Given the description of an element on the screen output the (x, y) to click on. 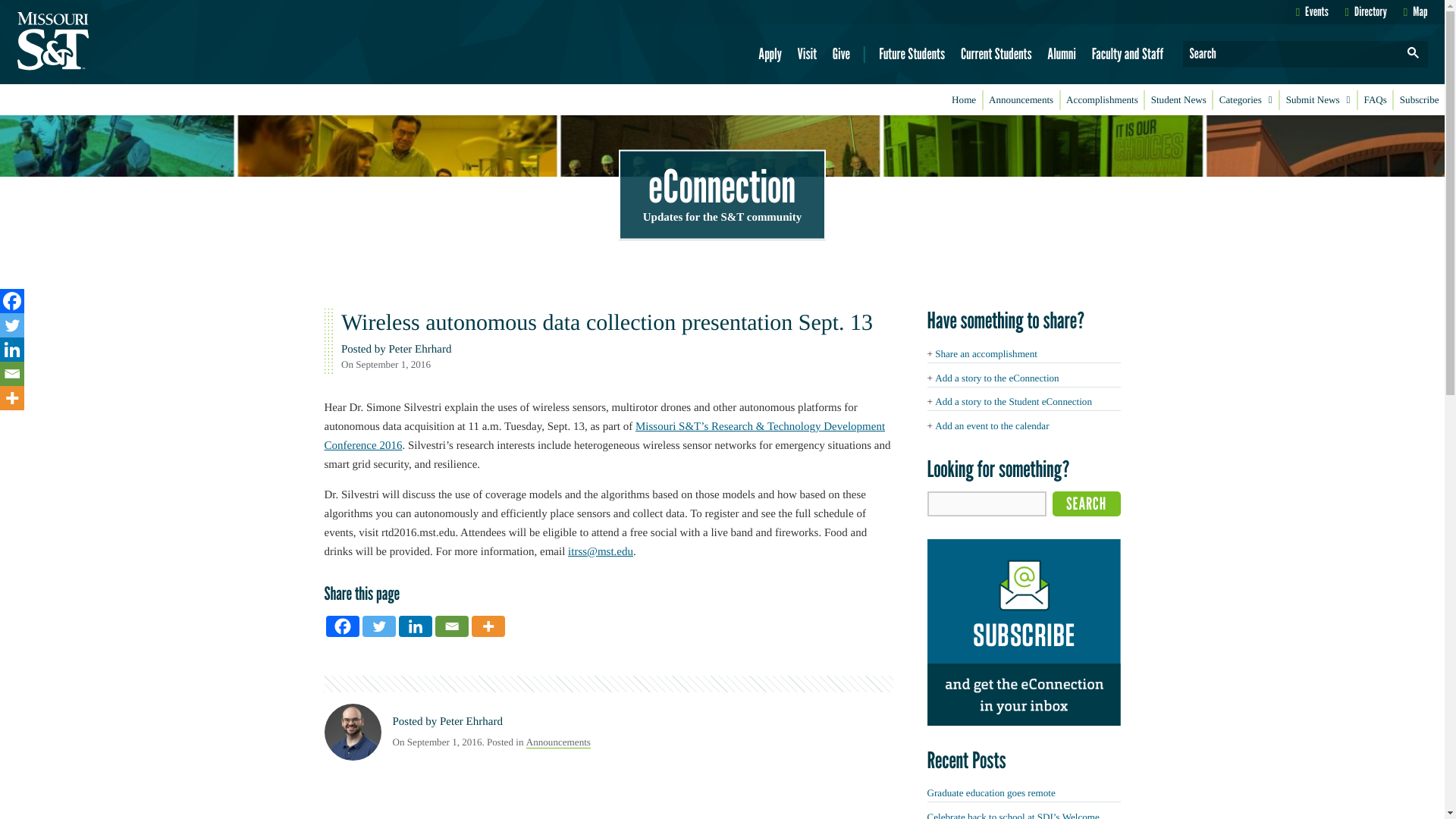
Home (963, 99)
Alumni (1061, 53)
Twitter (12, 324)
Student News (1177, 99)
Categories (1245, 99)
More (488, 626)
Email (12, 373)
Search (1086, 503)
Posts by Peter Ehrhard (419, 349)
Twitter (379, 626)
